Given the description of an element on the screen output the (x, y) to click on. 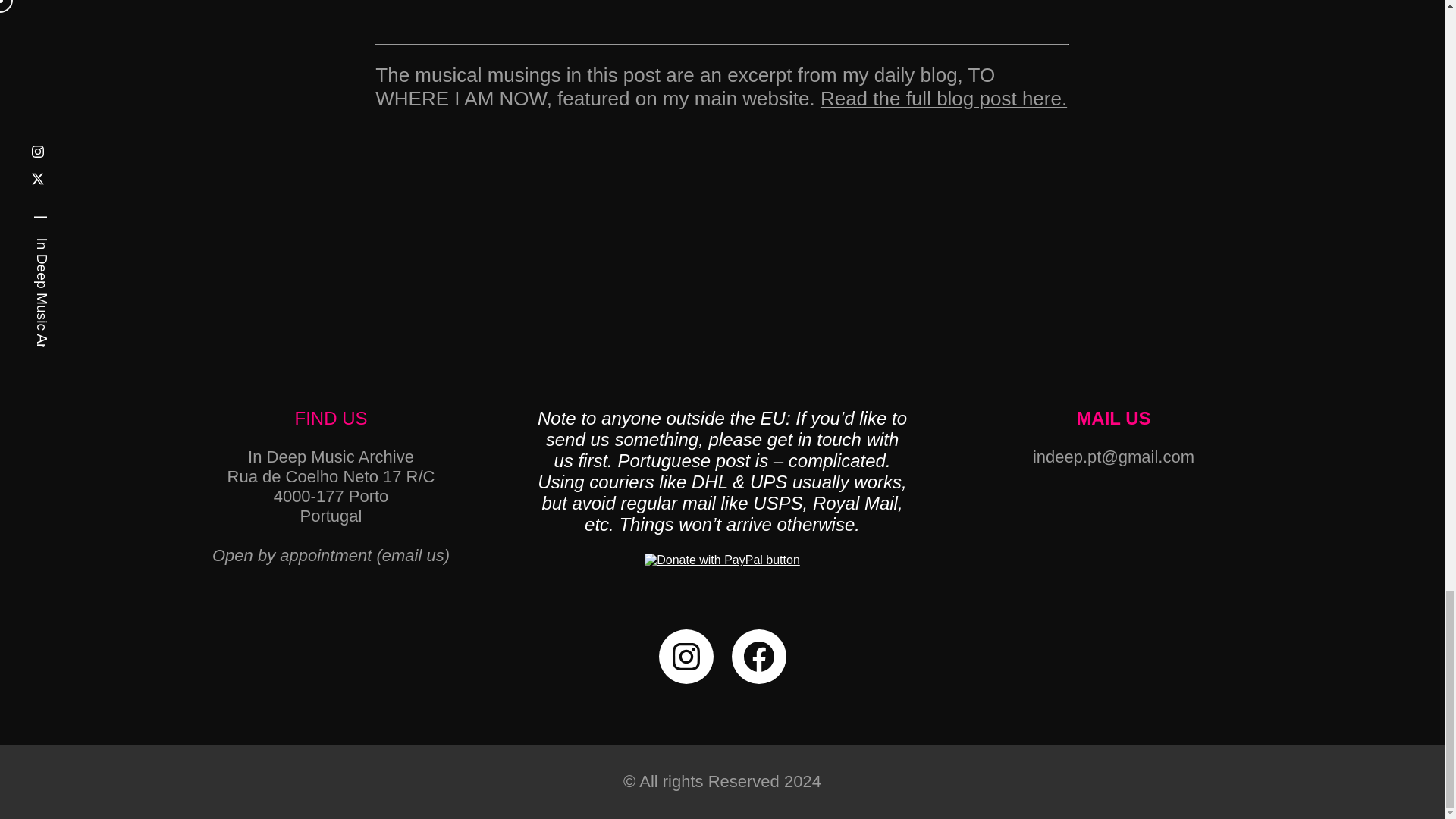
Facebook (758, 656)
Instagram (685, 656)
PayPal - The safer, easier way to pay online! (722, 560)
YouTube video player (721, 11)
Read the full blog post here. (944, 97)
